Given the description of an element on the screen output the (x, y) to click on. 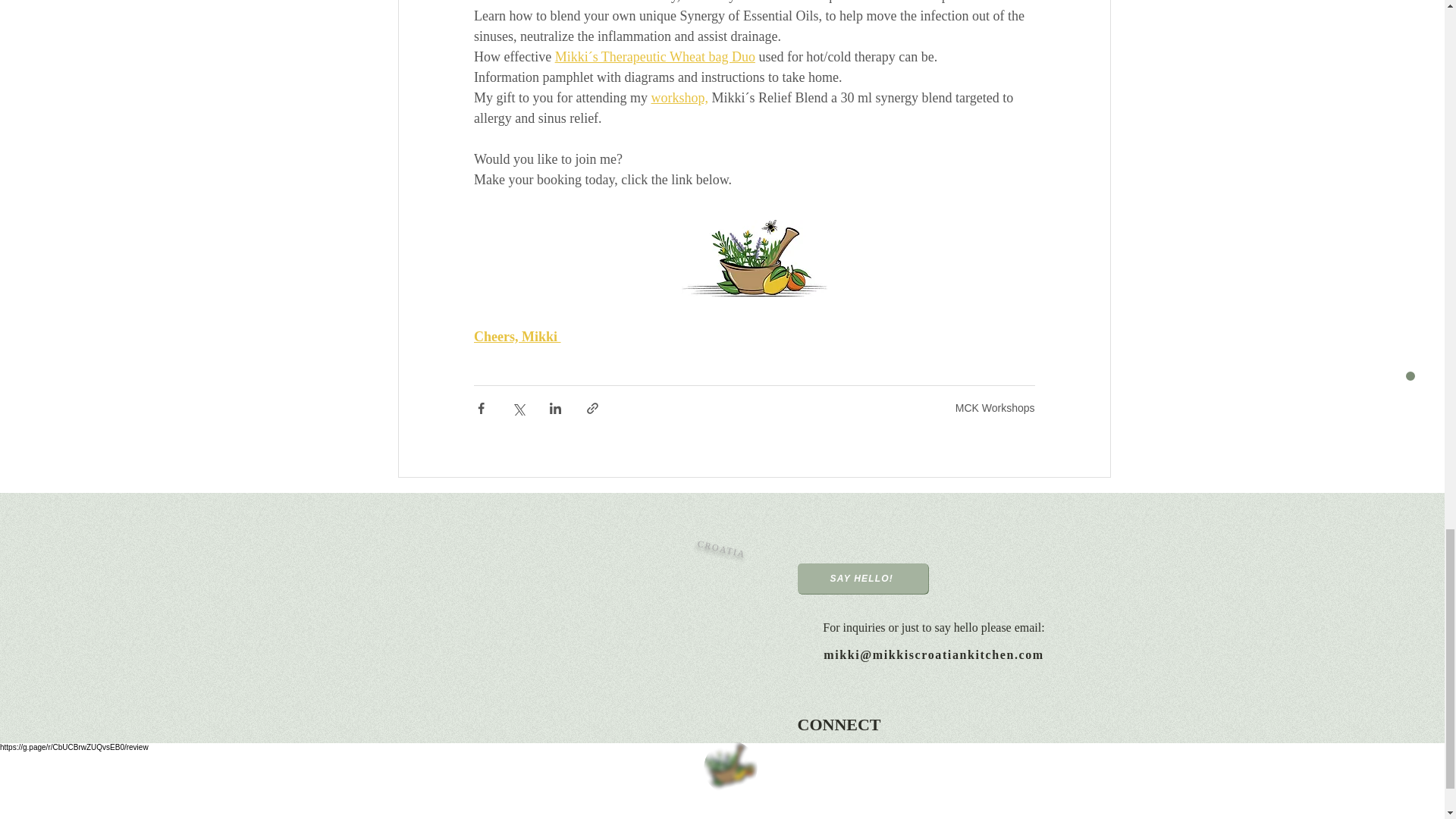
SAY HELLO! (862, 578)
Cheers, Mikki (514, 336)
MCK Workshops (995, 408)
workshop, (678, 97)
Mikkis Basket PNG.png (724, 761)
